Given the description of an element on the screen output the (x, y) to click on. 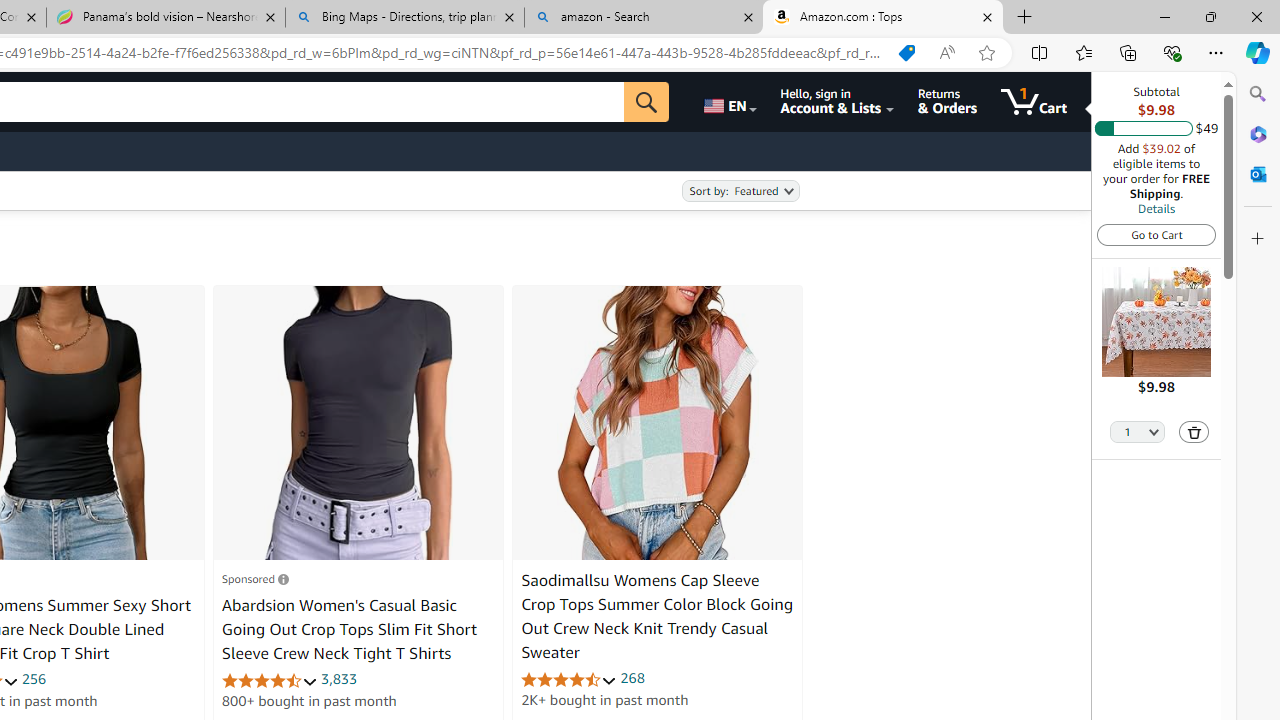
Go to Cart (1156, 234)
Quantity Selector (1137, 430)
256 (33, 678)
3,833 (339, 678)
268 (632, 678)
Delete (1194, 431)
Delete (1193, 431)
